Given the description of an element on the screen output the (x, y) to click on. 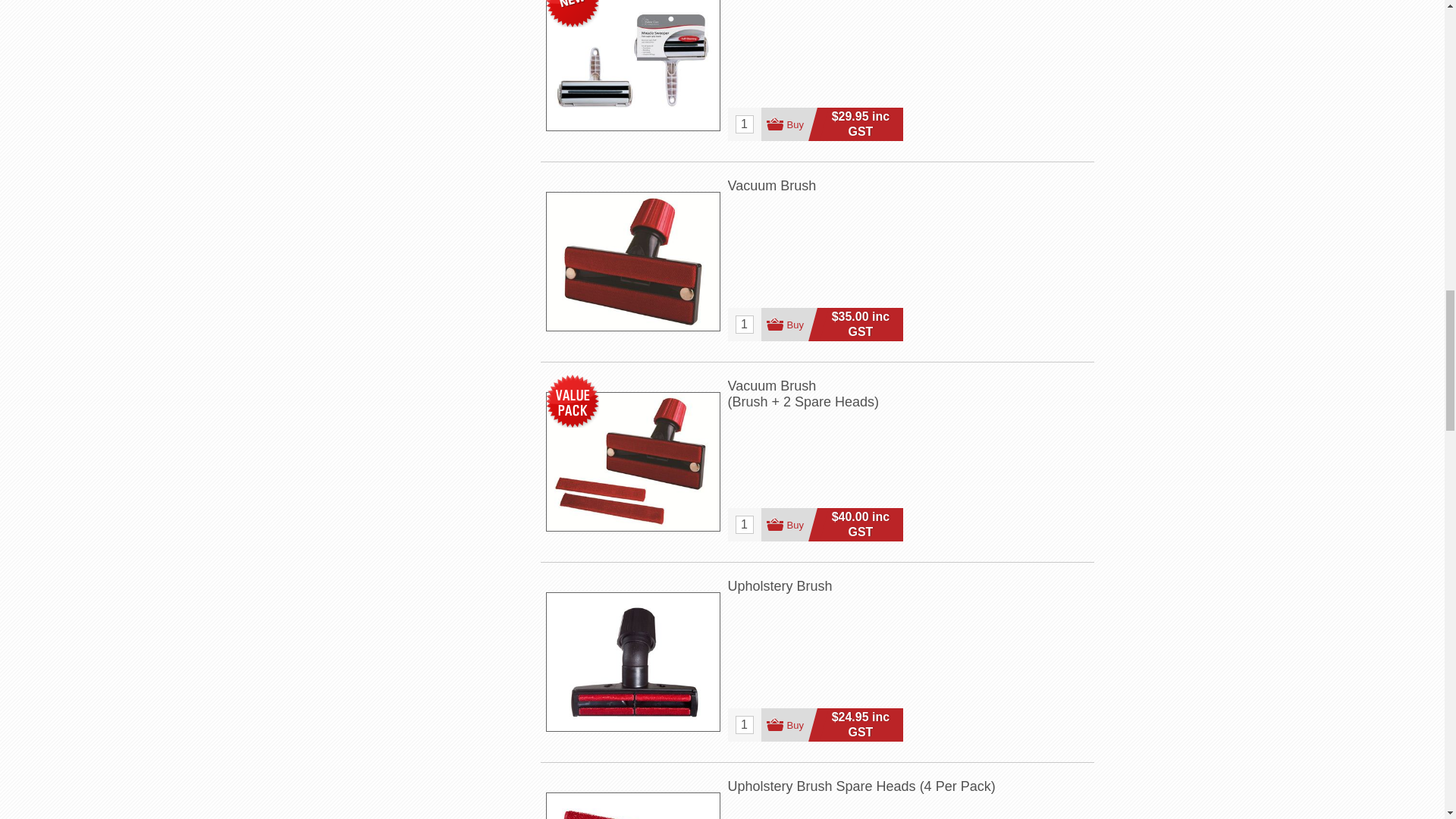
Buy (788, 524)
1 (744, 124)
Buy (788, 324)
1 (744, 524)
1 (744, 324)
Buy (788, 123)
